Given the description of an element on the screen output the (x, y) to click on. 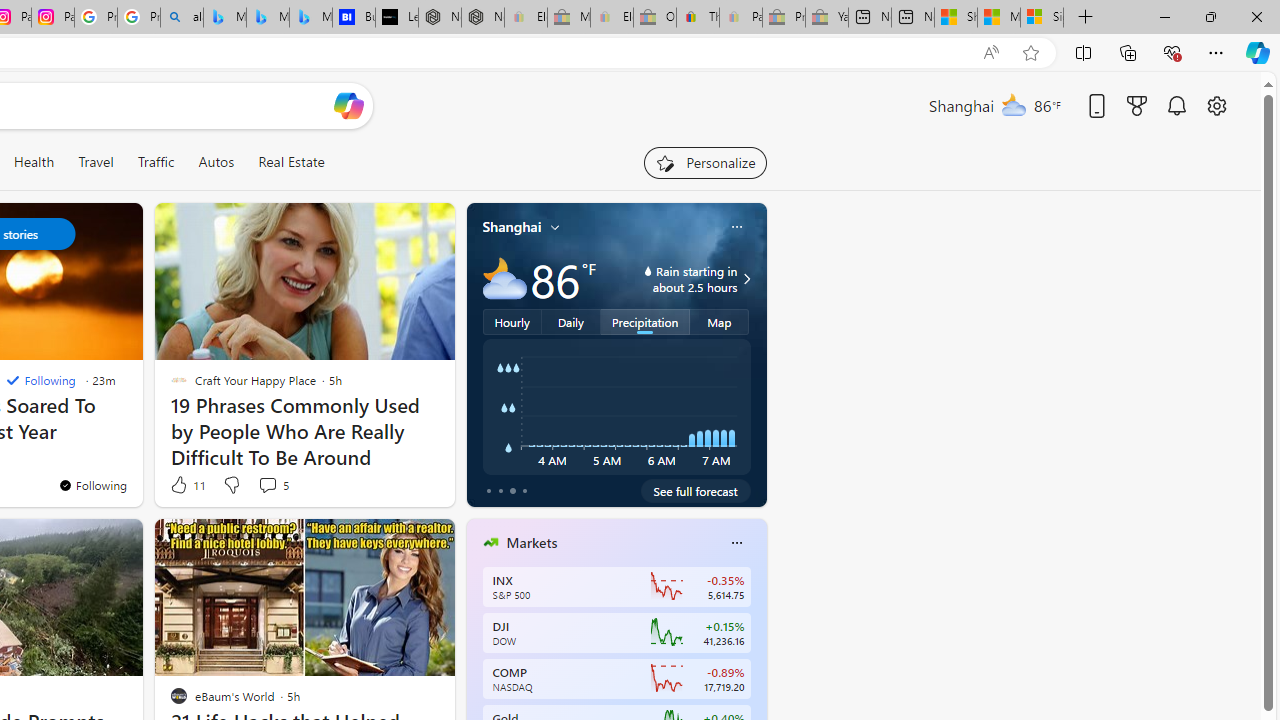
Threats and offensive language policy | eBay (698, 17)
Mostly cloudy (504, 278)
11 Like (186, 484)
previous (476, 670)
